Given the description of an element on the screen output the (x, y) to click on. 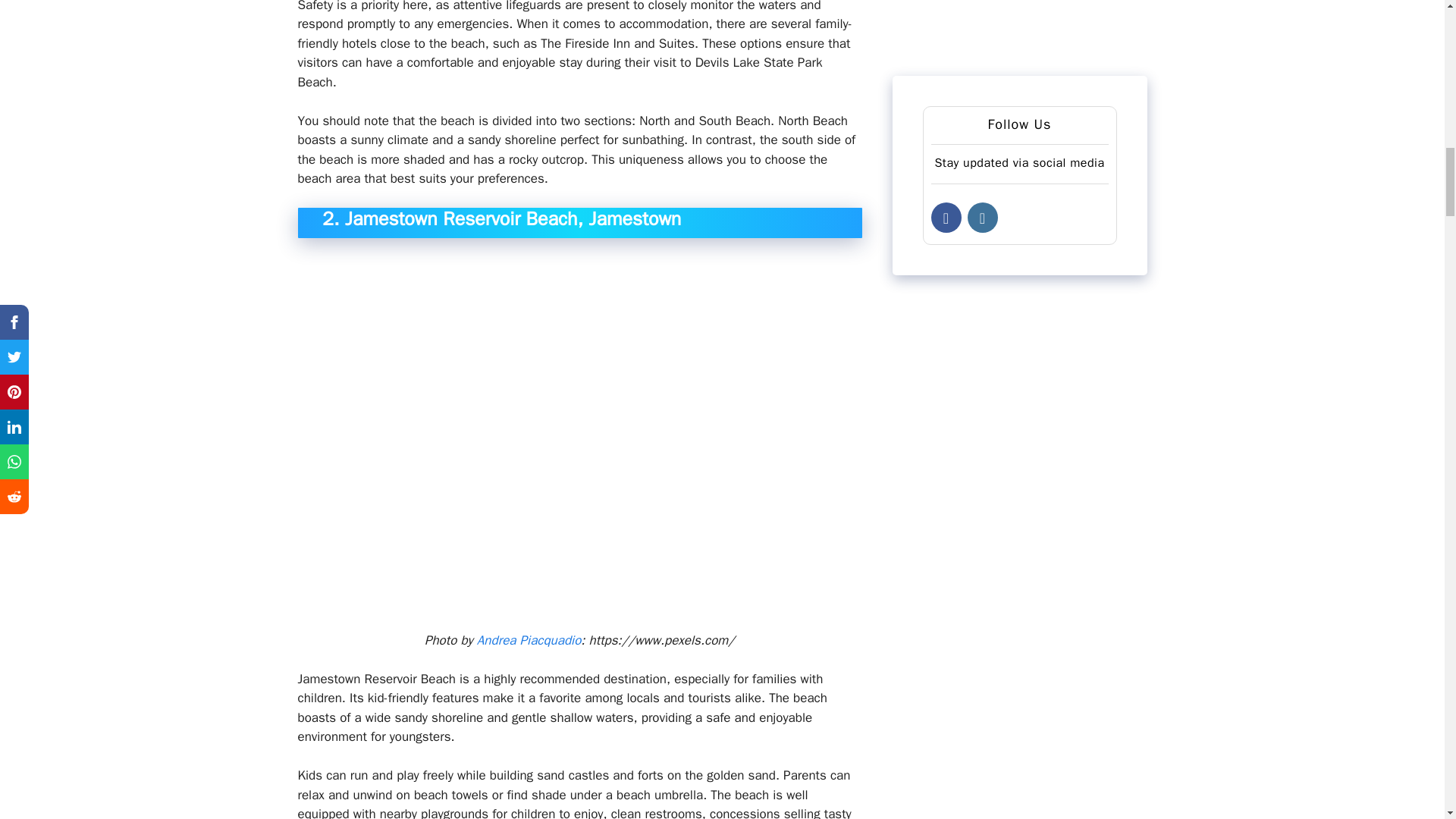
Andrea Piacquadio (528, 640)
